Given the description of an element on the screen output the (x, y) to click on. 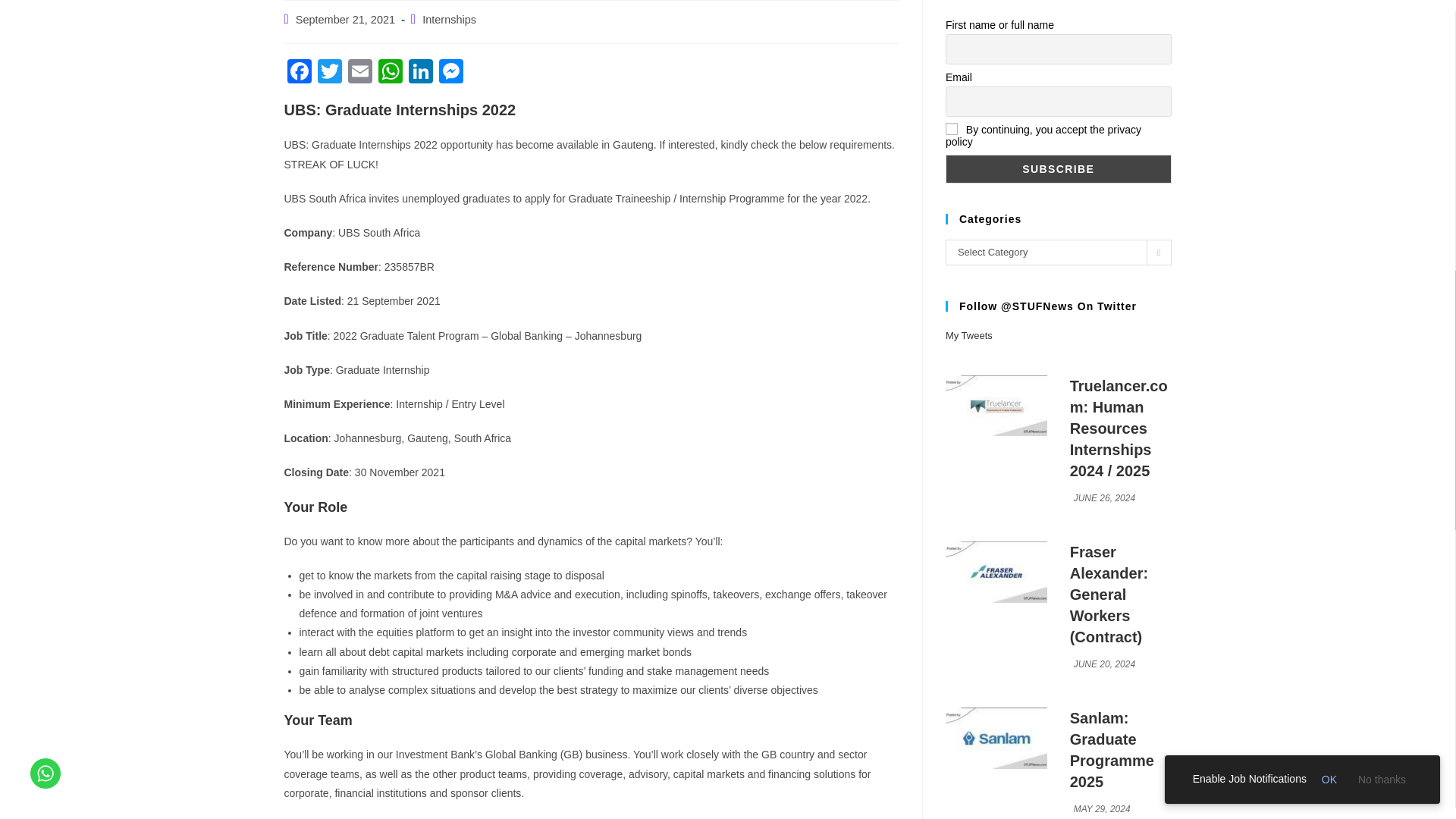
LinkedIn (419, 72)
Email (358, 72)
Messenger (450, 72)
Twitter (328, 72)
WhatsApp (389, 72)
Internships (449, 19)
Facebook (298, 72)
on (951, 128)
Subscribe (1058, 168)
